Given the description of an element on the screen output the (x, y) to click on. 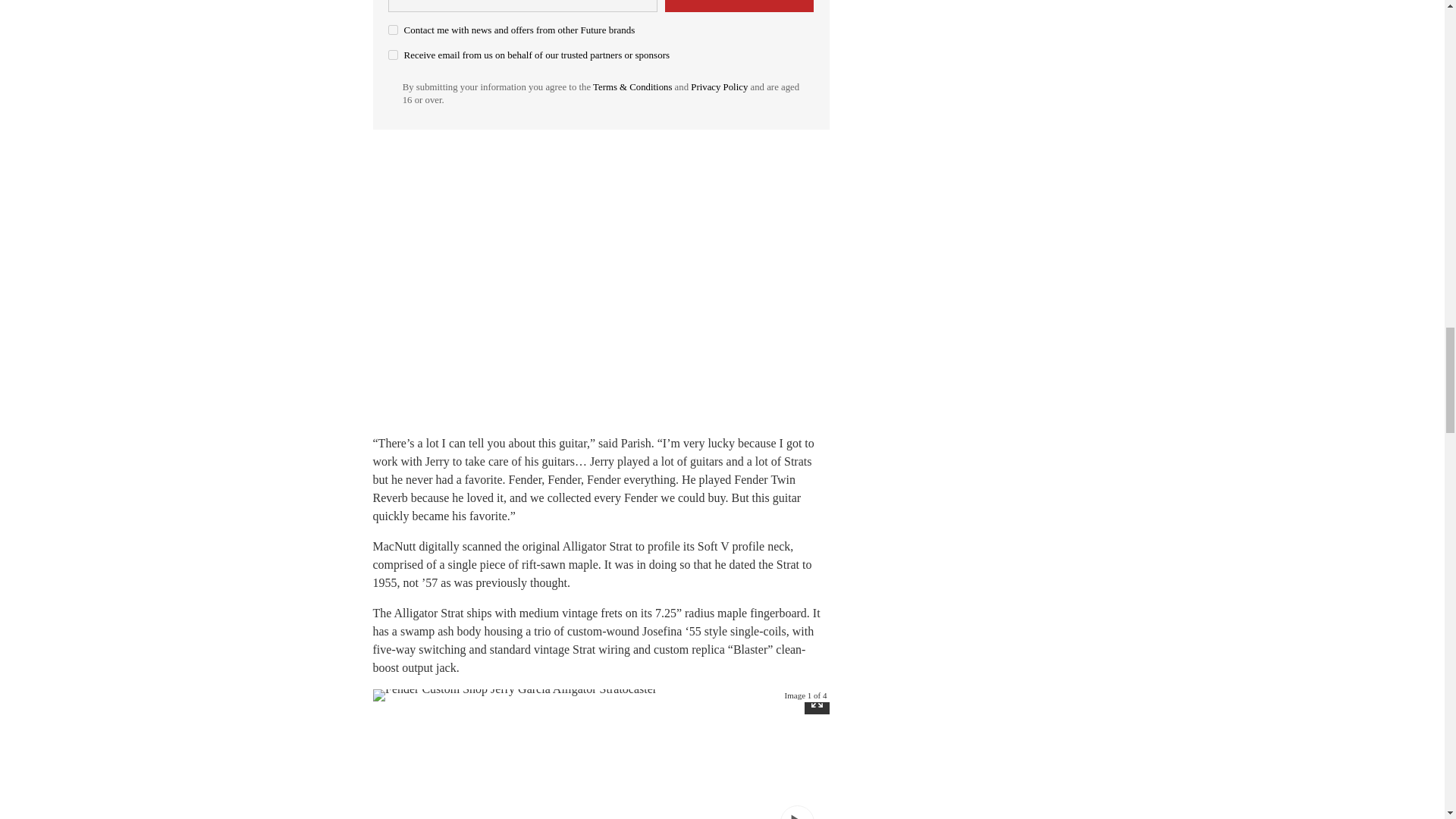
on (392, 30)
on (392, 54)
Sign me up (739, 6)
Privacy Policy (719, 86)
Sign me up (739, 6)
